Given the description of an element on the screen output the (x, y) to click on. 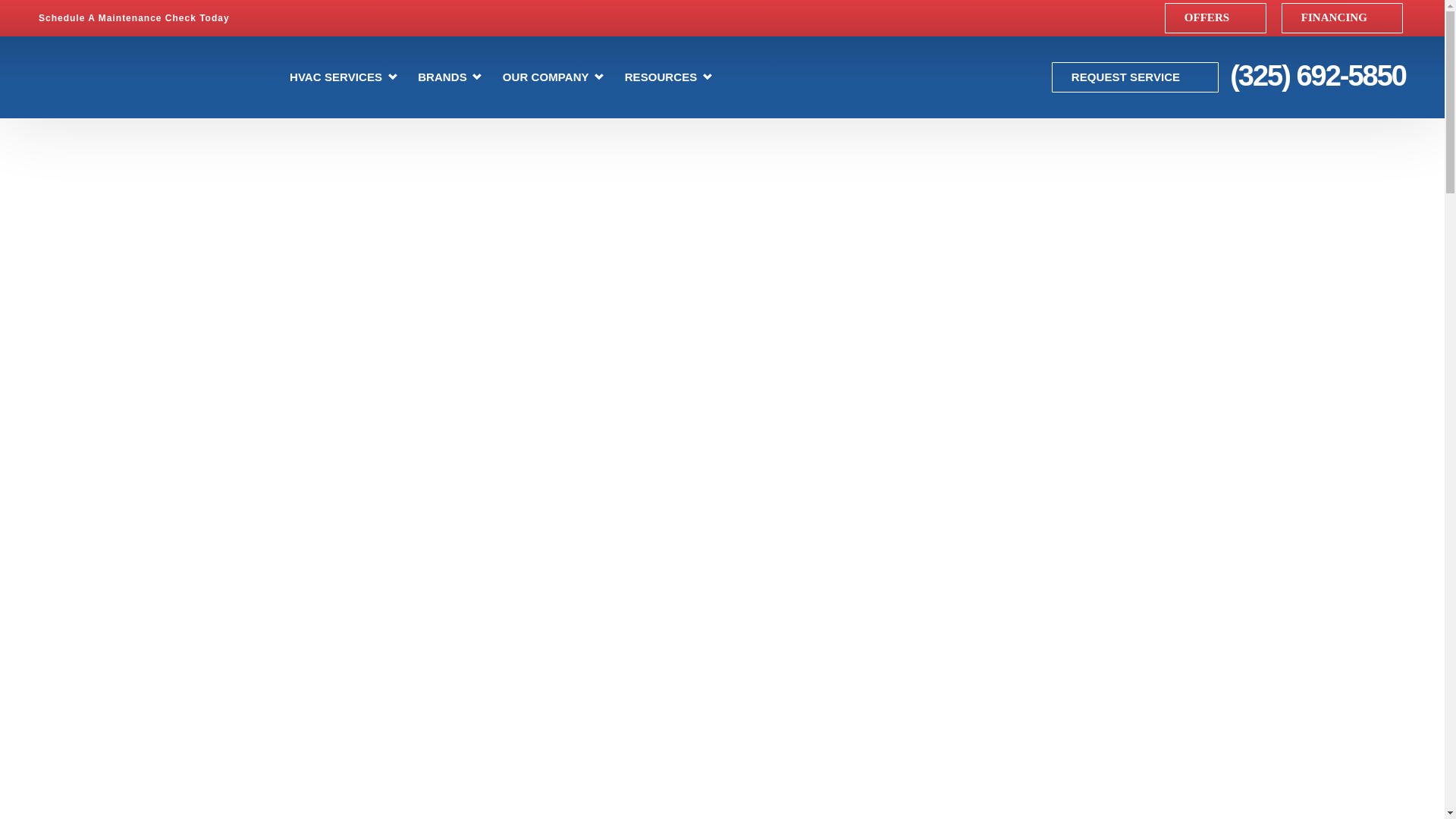
FINANCING (1342, 18)
Schedule A Maintenance Check Today (143, 18)
OUR COMPANY (553, 77)
BRANDS (449, 77)
OFFERS (1215, 18)
HVAC SERVICES (343, 77)
REQUEST SERVICE (1134, 77)
RESOURCES (669, 77)
